Given the description of an element on the screen output the (x, y) to click on. 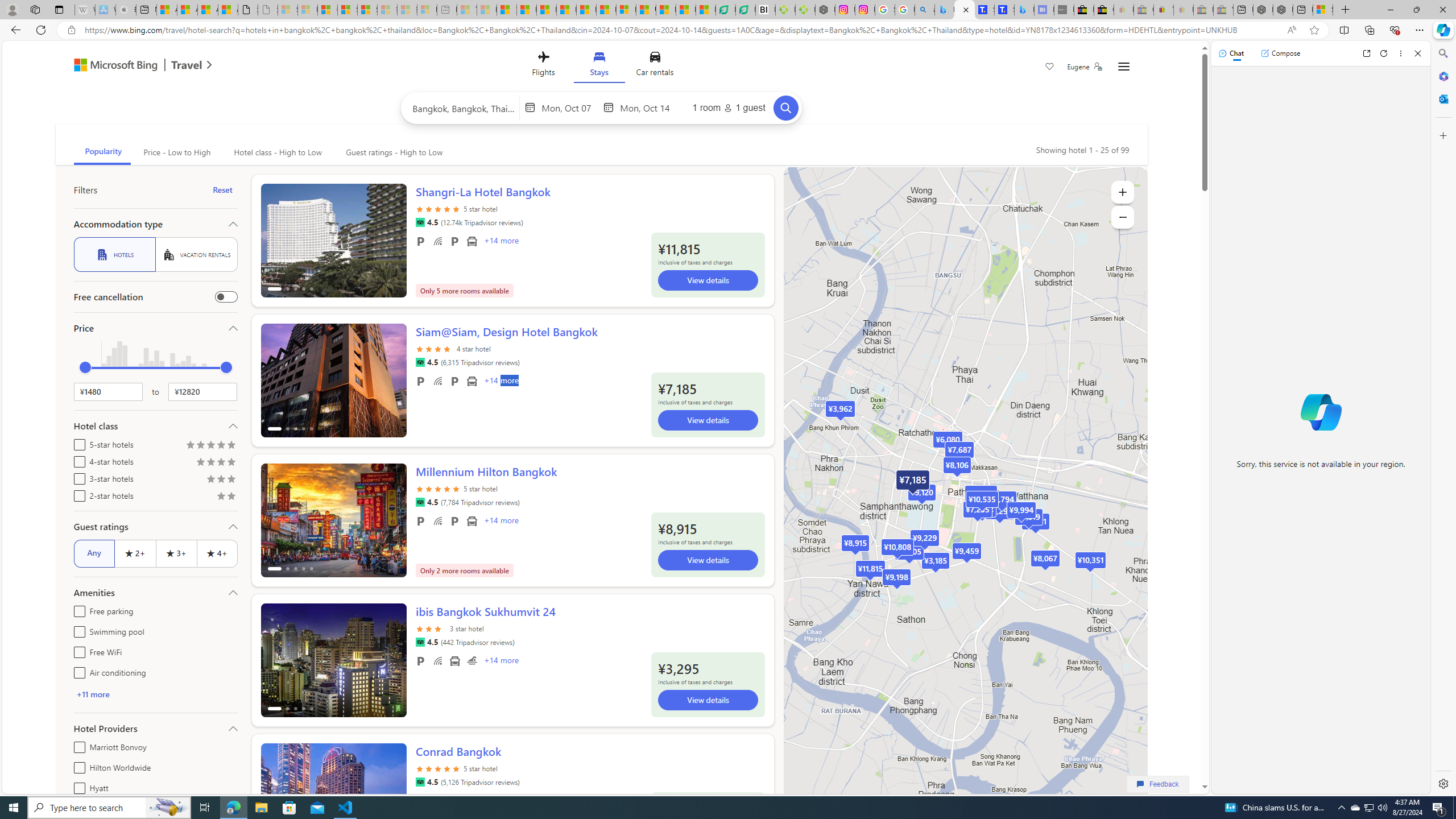
HOTELS (113, 254)
Flights (542, 65)
Compose (1280, 52)
Top Stories - MSN - Sleeping (466, 9)
Free WiFi (76, 650)
Nvidia va a poner a prueba la paciencia de los inversores (765, 9)
